Given the description of an element on the screen output the (x, y) to click on. 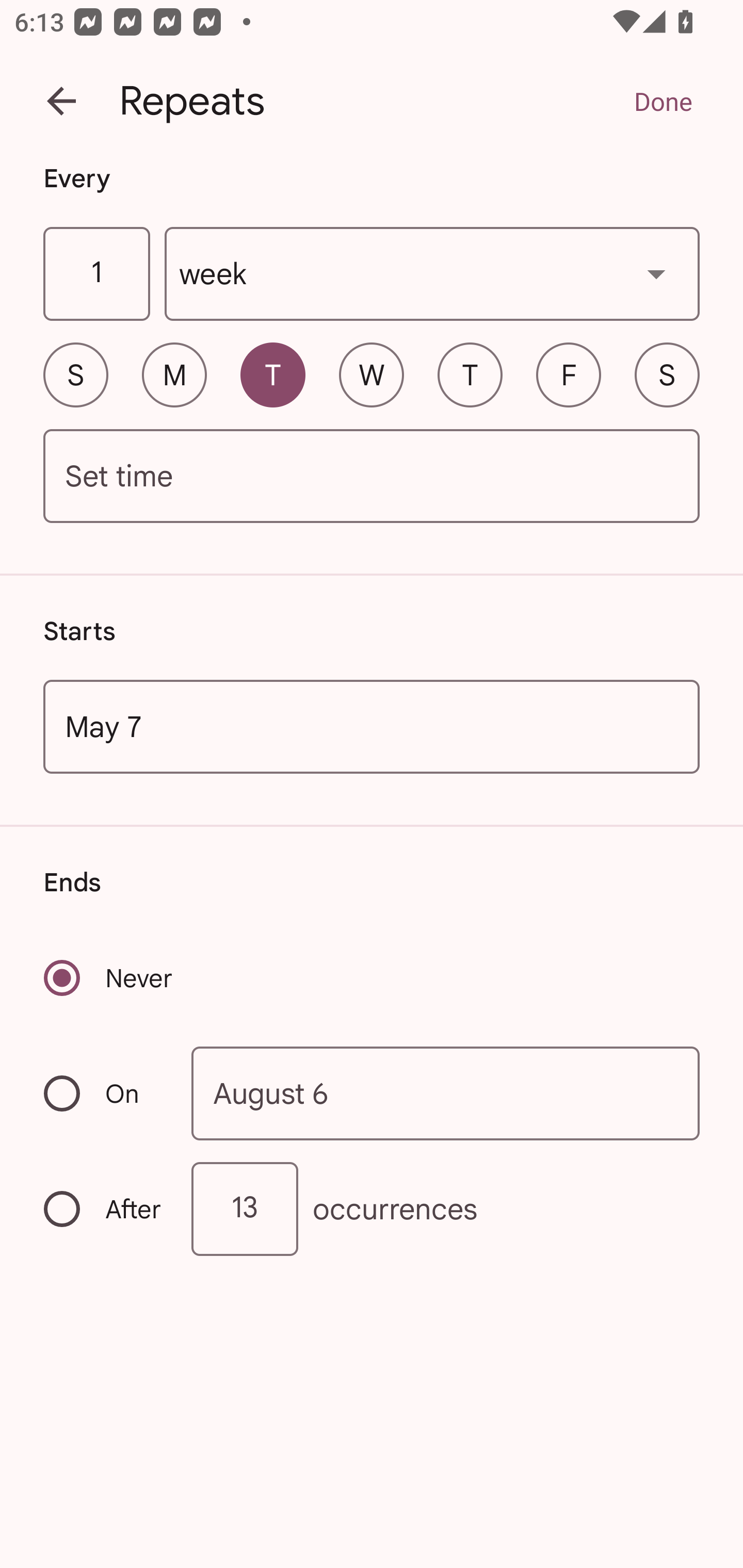
Back (61, 101)
Done (663, 101)
1 (96, 274)
week (431, 274)
Show dropdown menu (655, 273)
S Sunday (75, 374)
M Monday (173, 374)
T Tuesday, selected (272, 374)
W Wednesday (371, 374)
T Thursday (469, 374)
F Friday (568, 374)
S Saturday (666, 374)
Set time (371, 476)
May 7 (371, 726)
Never Recurrence never ends (109, 978)
August 6 (445, 1092)
On Recurrence ends on a specific date (104, 1093)
13 (244, 1208)
